Given the description of an element on the screen output the (x, y) to click on. 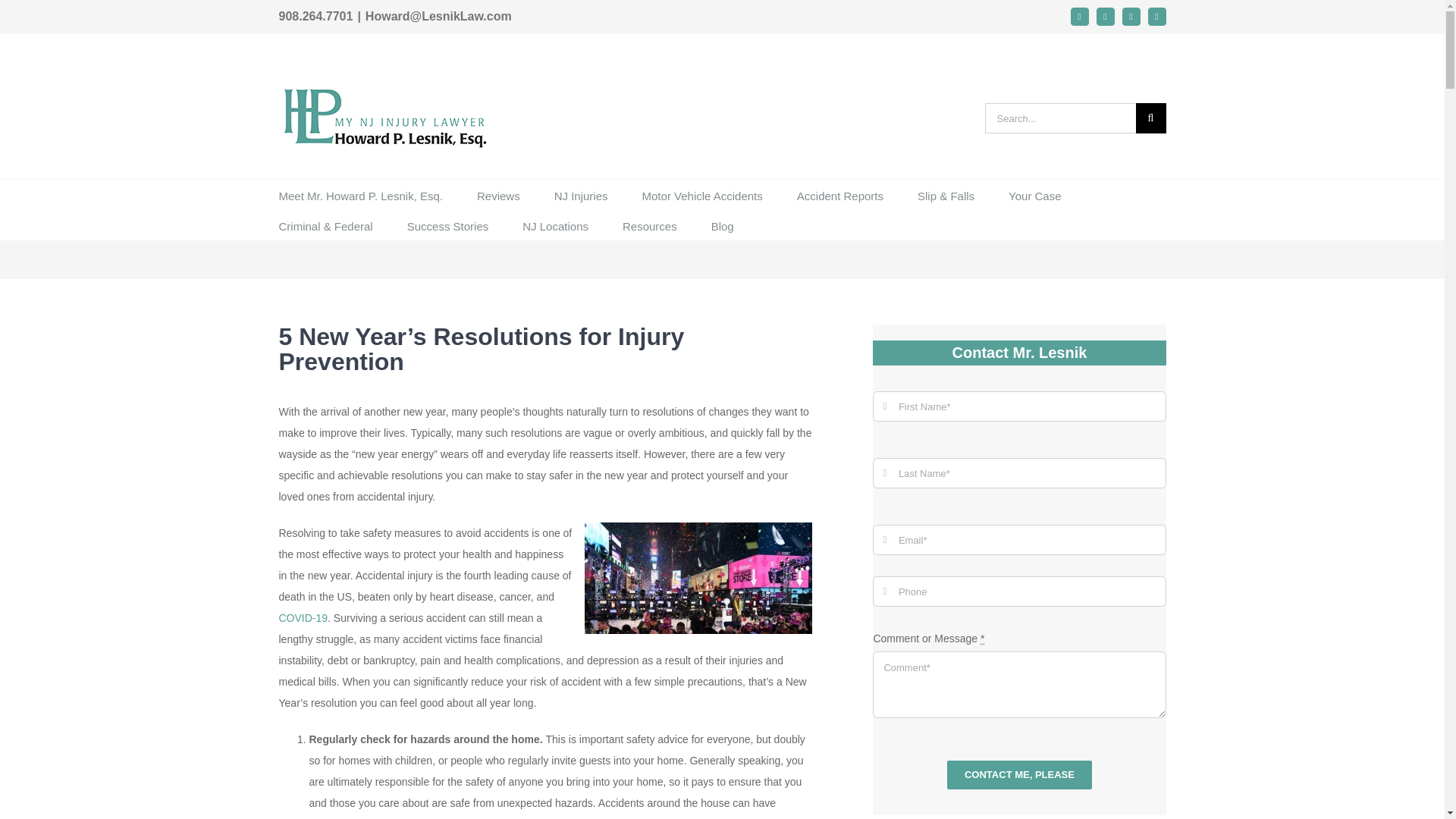
Facebook (1105, 16)
Reviews (498, 194)
Email (1079, 16)
Meet Mr. Howard P. Lesnik, Esq. (360, 194)
Resolutions for Injury Prevention (698, 577)
LinkedIn (1131, 16)
Motor Vehicle Accidents (702, 194)
NJ Injuries (581, 194)
X (1157, 16)
908.264.7701 (316, 15)
Accident Reports (839, 194)
